Given the description of an element on the screen output the (x, y) to click on. 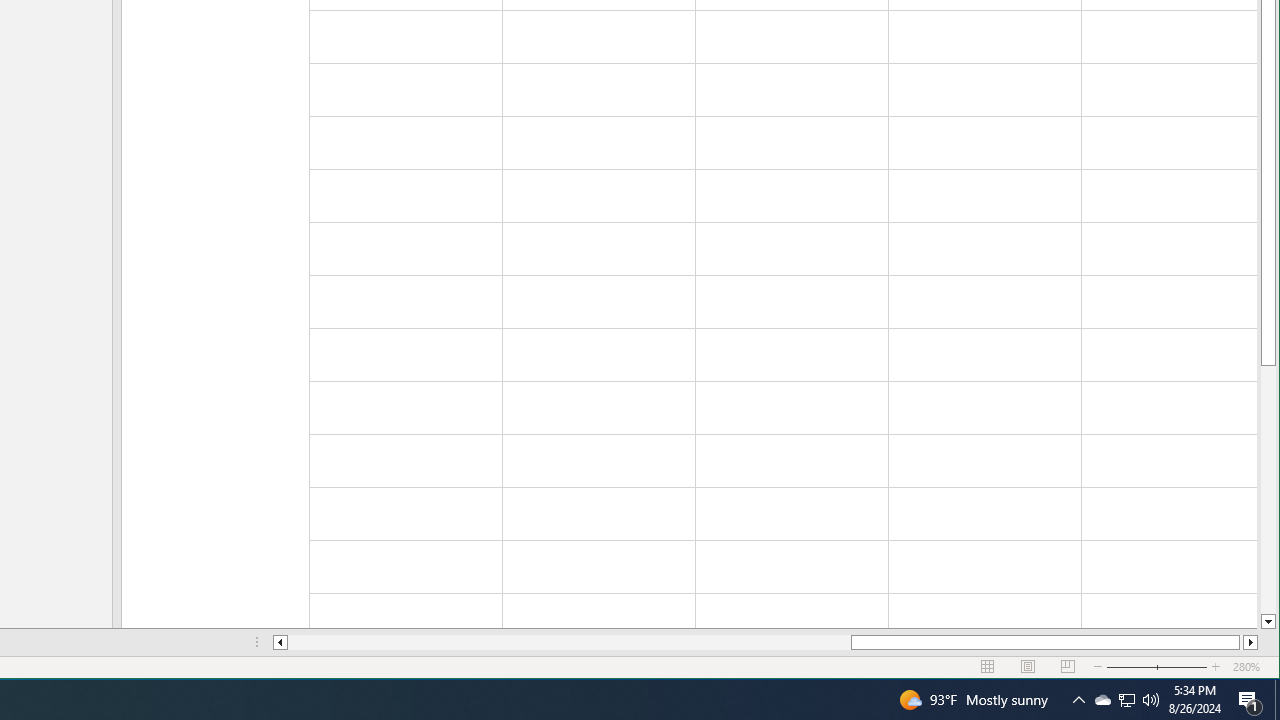
Notification Chevron (1078, 699)
